Given the description of an element on the screen output the (x, y) to click on. 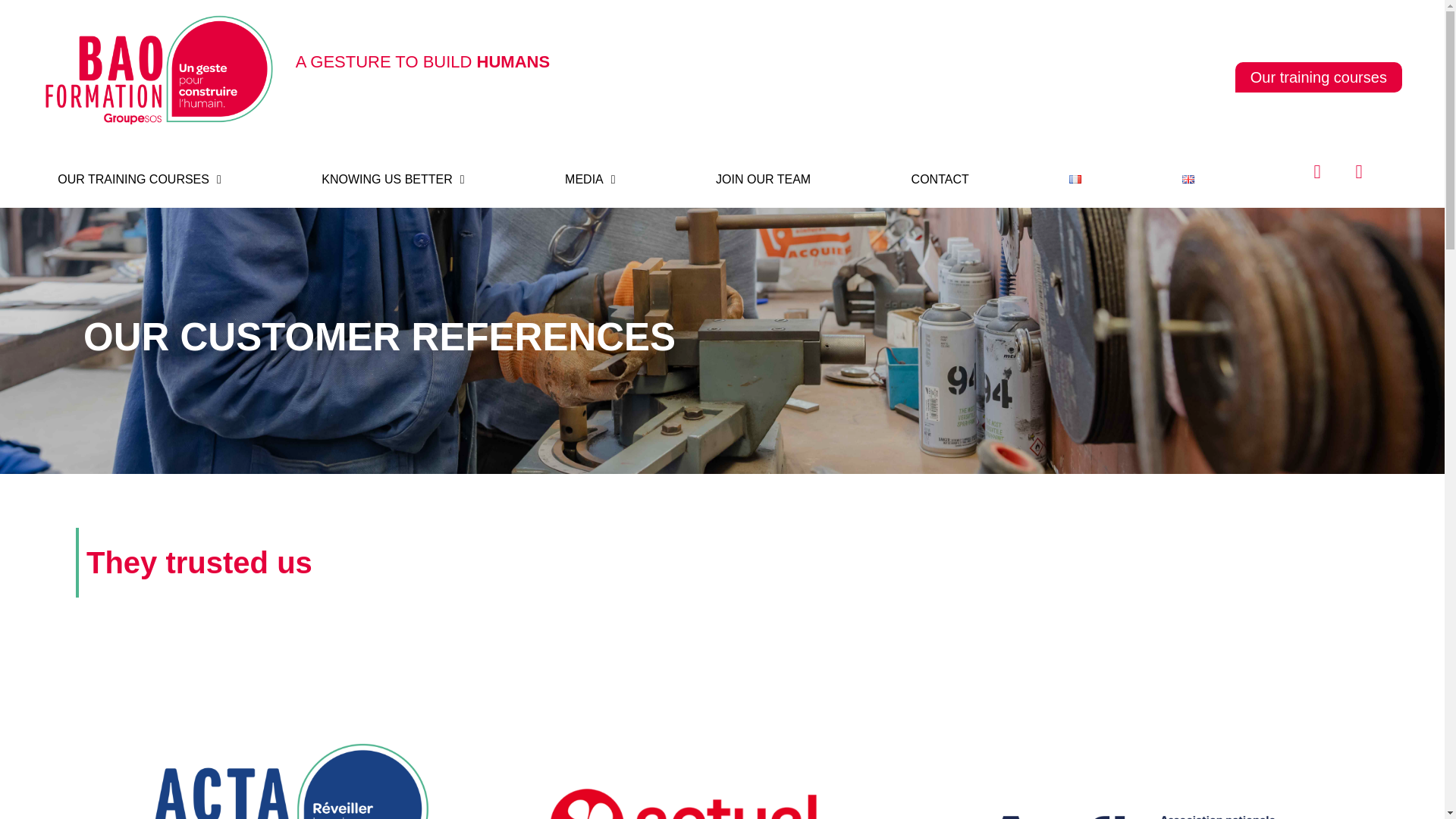
KNOWING US BETTER (392, 179)
JOIN OUR TEAM (763, 179)
OUR TRAINING COURSES (138, 179)
MEDIA (590, 179)
CONTACT (939, 179)
Our training courses (1318, 77)
